Given the description of an element on the screen output the (x, y) to click on. 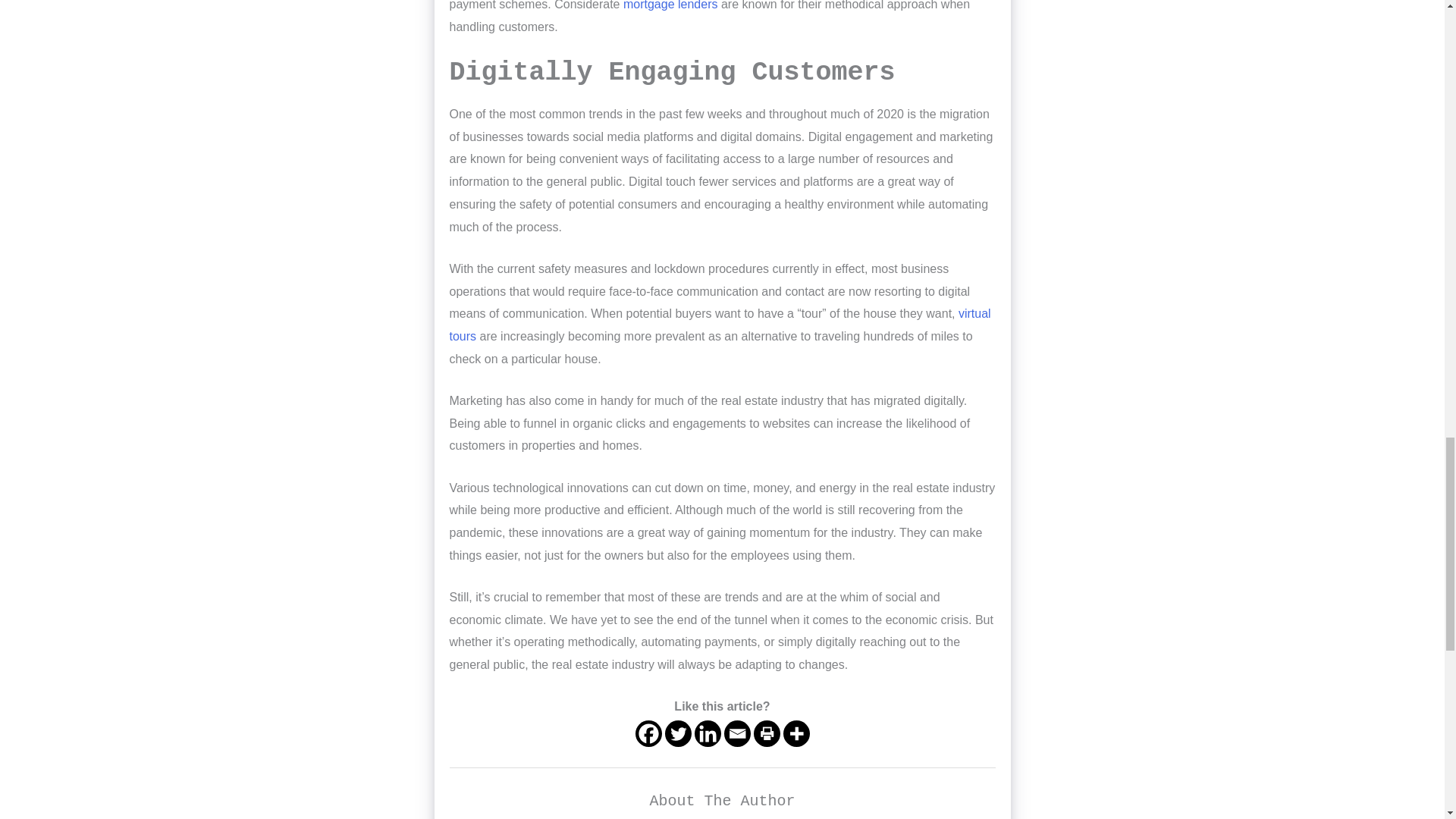
More (796, 733)
Print (767, 733)
virtual tours (719, 325)
Twitter (676, 733)
Facebook (648, 733)
Email (736, 733)
mortgage lenders (670, 5)
Linkedin (707, 733)
